Given the description of an element on the screen output the (x, y) to click on. 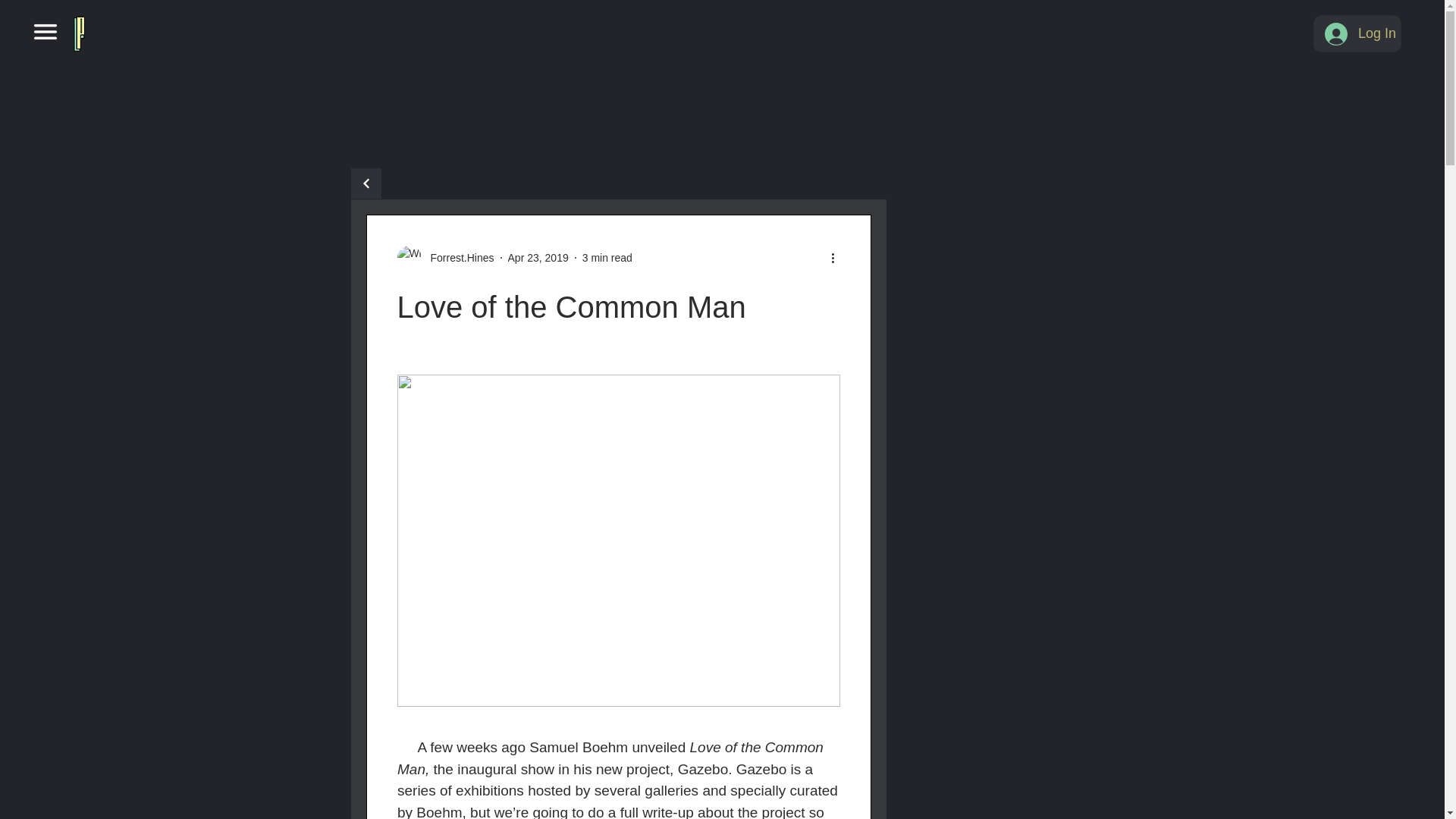
Log In (1357, 33)
Forrest.Hines (446, 257)
Forrest.Hines (458, 258)
3 min read (606, 257)
Apr 23, 2019 (538, 257)
